Given the description of an element on the screen output the (x, y) to click on. 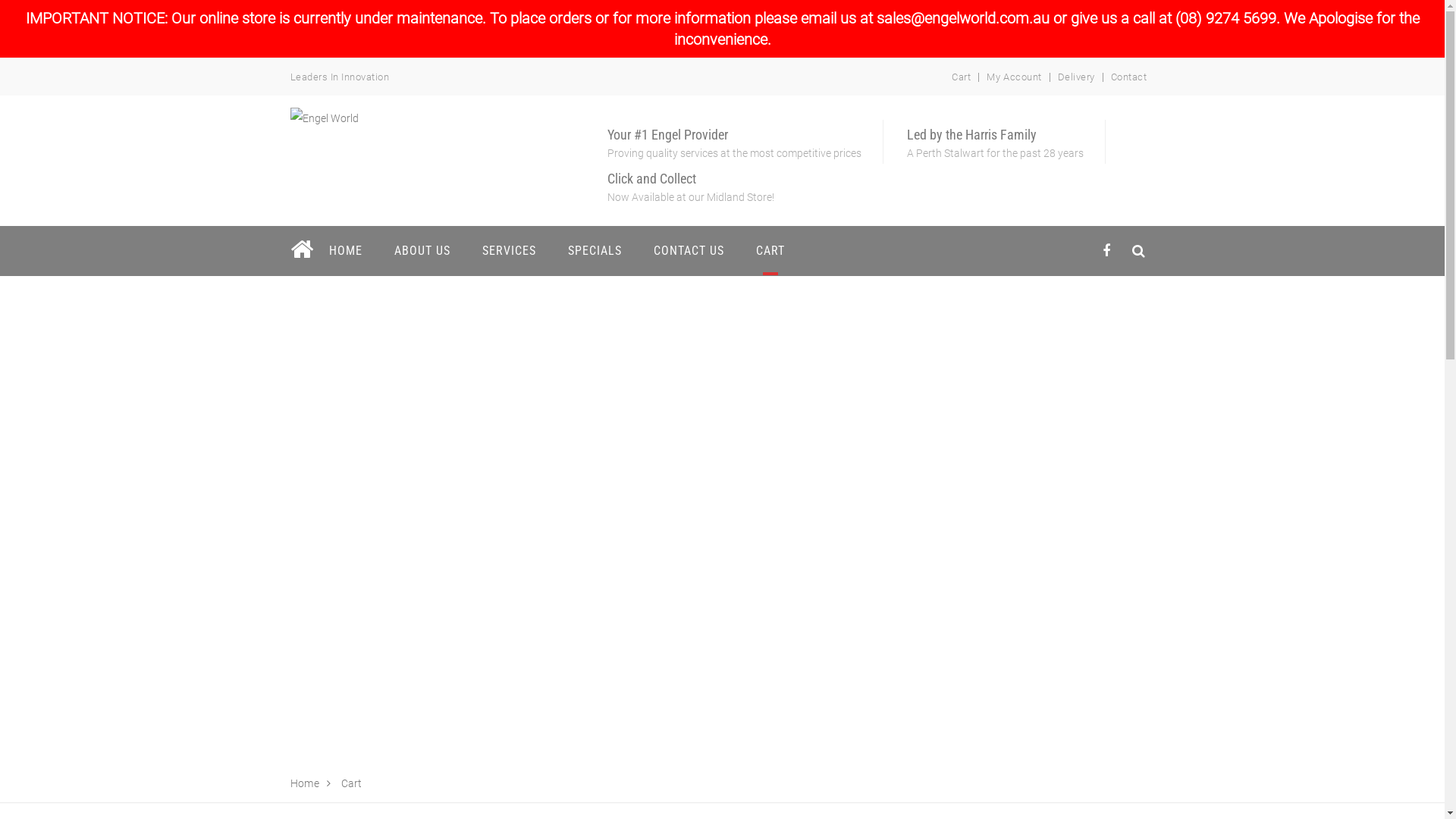
ABOUT US Element type: text (421, 250)
Cart Element type: text (960, 76)
My Account Element type: text (1013, 76)
Contact Element type: text (1128, 76)
SPECIALS Element type: text (594, 250)
HOME Element type: text (344, 250)
Delivery Element type: text (1076, 76)
SERVICES Element type: text (508, 250)
Home Element type: text (304, 783)
behance Element type: hover (1138, 250)
CONTACT US Element type: text (688, 250)
CART Element type: text (770, 250)
